Given the description of an element on the screen output the (x, y) to click on. 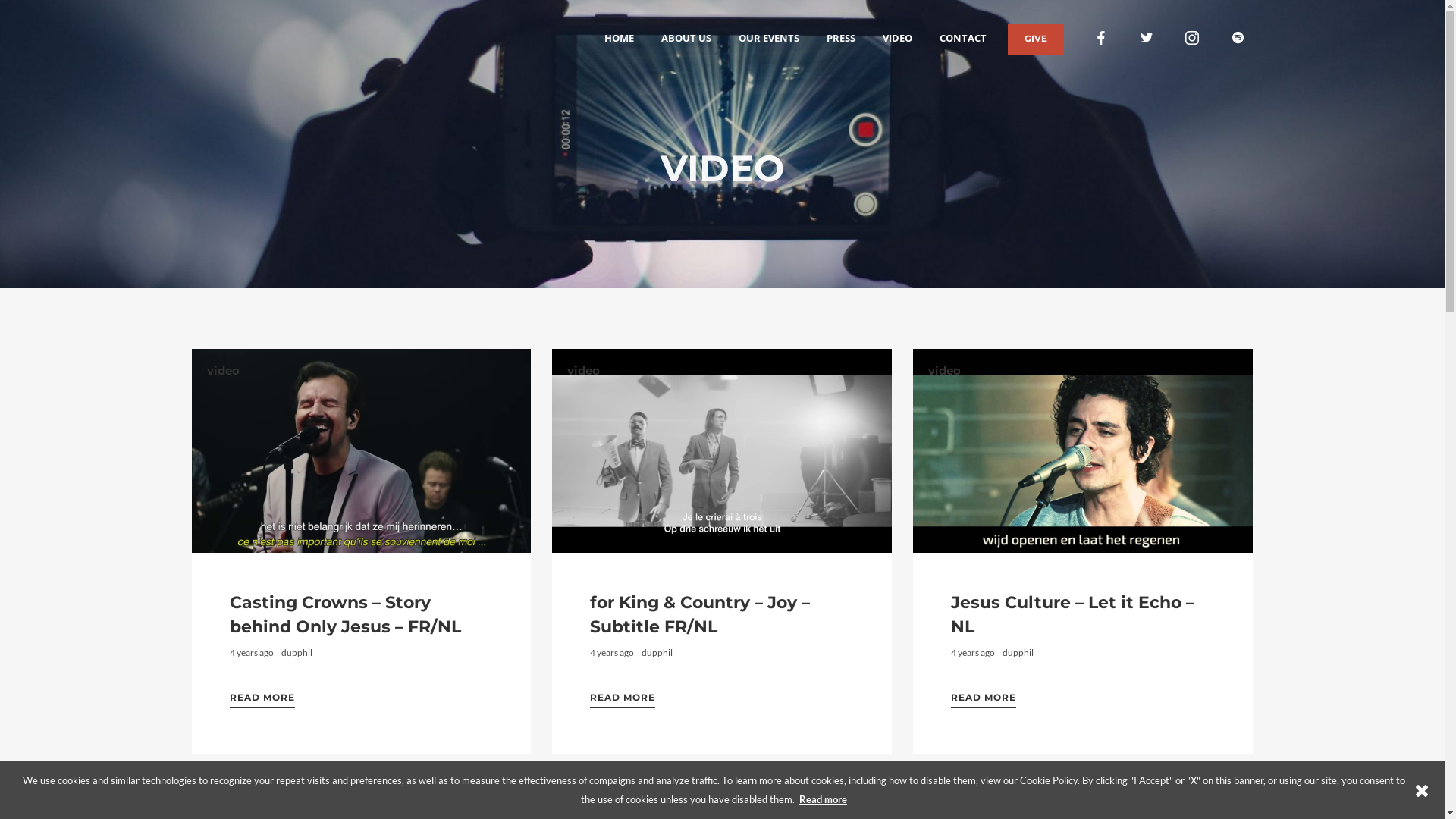
video Element type: text (583, 370)
OUR EVENTS Element type: text (768, 37)
X Element type: text (1421, 789)
instagram Element type: hover (1191, 37)
4 years ago Element type: text (972, 652)
twitter Element type: hover (1146, 37)
video Element type: text (944, 370)
Read more Element type: text (823, 799)
GIVE Element type: text (1034, 37)
4 years ago Element type: text (251, 652)
4 years ago Element type: text (611, 652)
dupphil Element type: text (1017, 652)
PRESS Element type: text (840, 37)
HOME Element type: text (617, 37)
video Element type: text (583, 796)
video Element type: text (222, 796)
video Element type: text (222, 370)
facebook Element type: hover (1100, 37)
dupphil Element type: text (656, 652)
video Element type: text (944, 796)
CONTACT Element type: text (962, 37)
READ MORE Element type: text (983, 697)
READ MORE Element type: text (622, 697)
VIDEO Element type: text (897, 37)
READ MORE Element type: text (261, 697)
ABOUT US Element type: text (685, 37)
spotify Element type: hover (1237, 37)
dupphil Element type: text (295, 652)
